Given the description of an element on the screen output the (x, y) to click on. 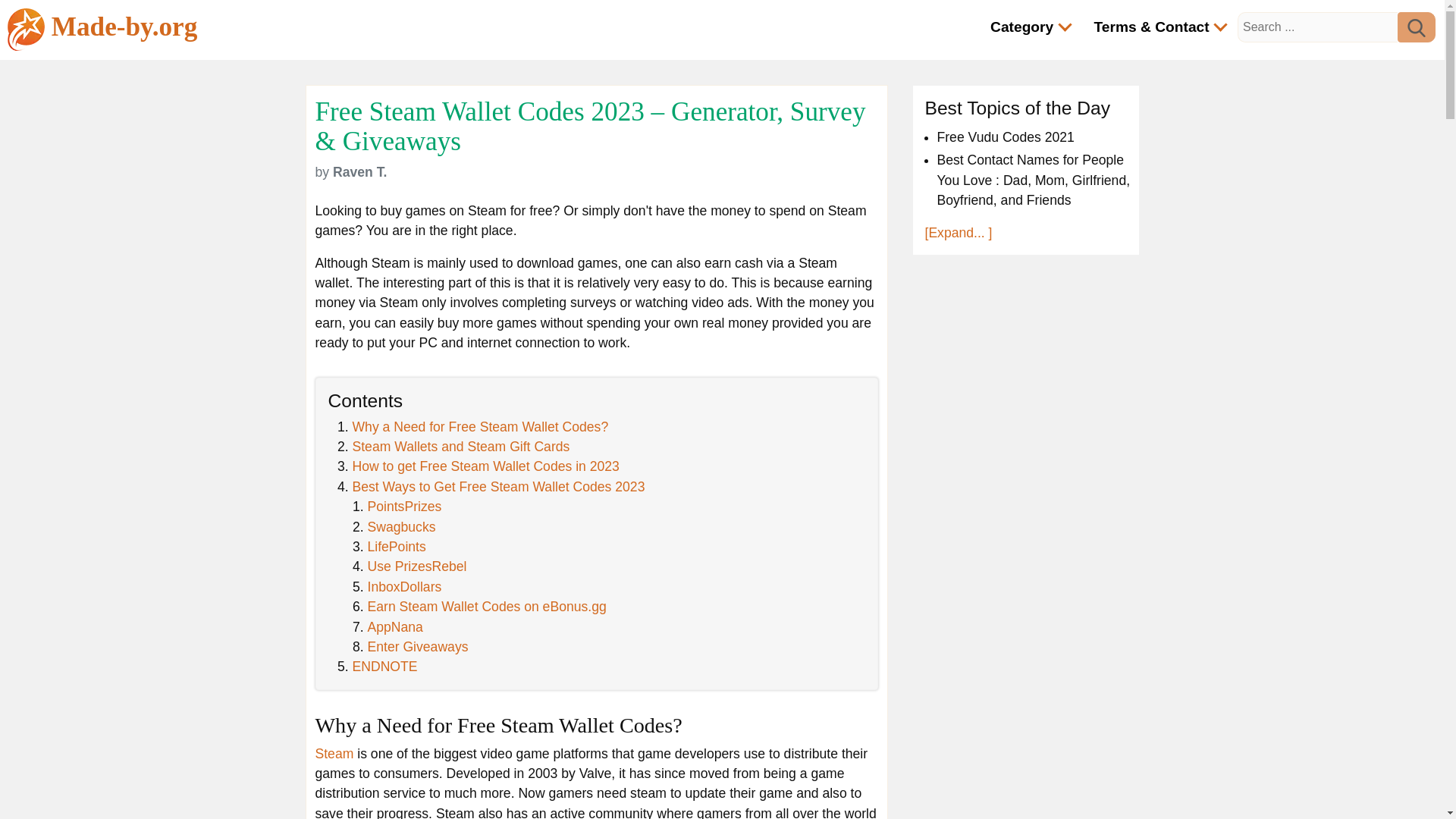
ENDNOTE (384, 666)
Why a Need for Free Steam Wallet Codes? (480, 426)
Best Ways to Get Free Steam Wallet Codes 2023 (498, 486)
How to get Free Steam Wallet Codes in 2023 (485, 466)
Swagbucks (400, 526)
Made-by.org (101, 28)
LifePoints (395, 546)
AppNana (394, 626)
Steam Wallets and Steam Gift Cards (460, 446)
Enter Giveaways (416, 646)
InboxDollars (403, 586)
Use PrizesRebel (415, 566)
Earn Steam Wallet Codes on eBonus.gg (485, 606)
Steam (334, 753)
PointsPrizes (403, 506)
